Given the description of an element on the screen output the (x, y) to click on. 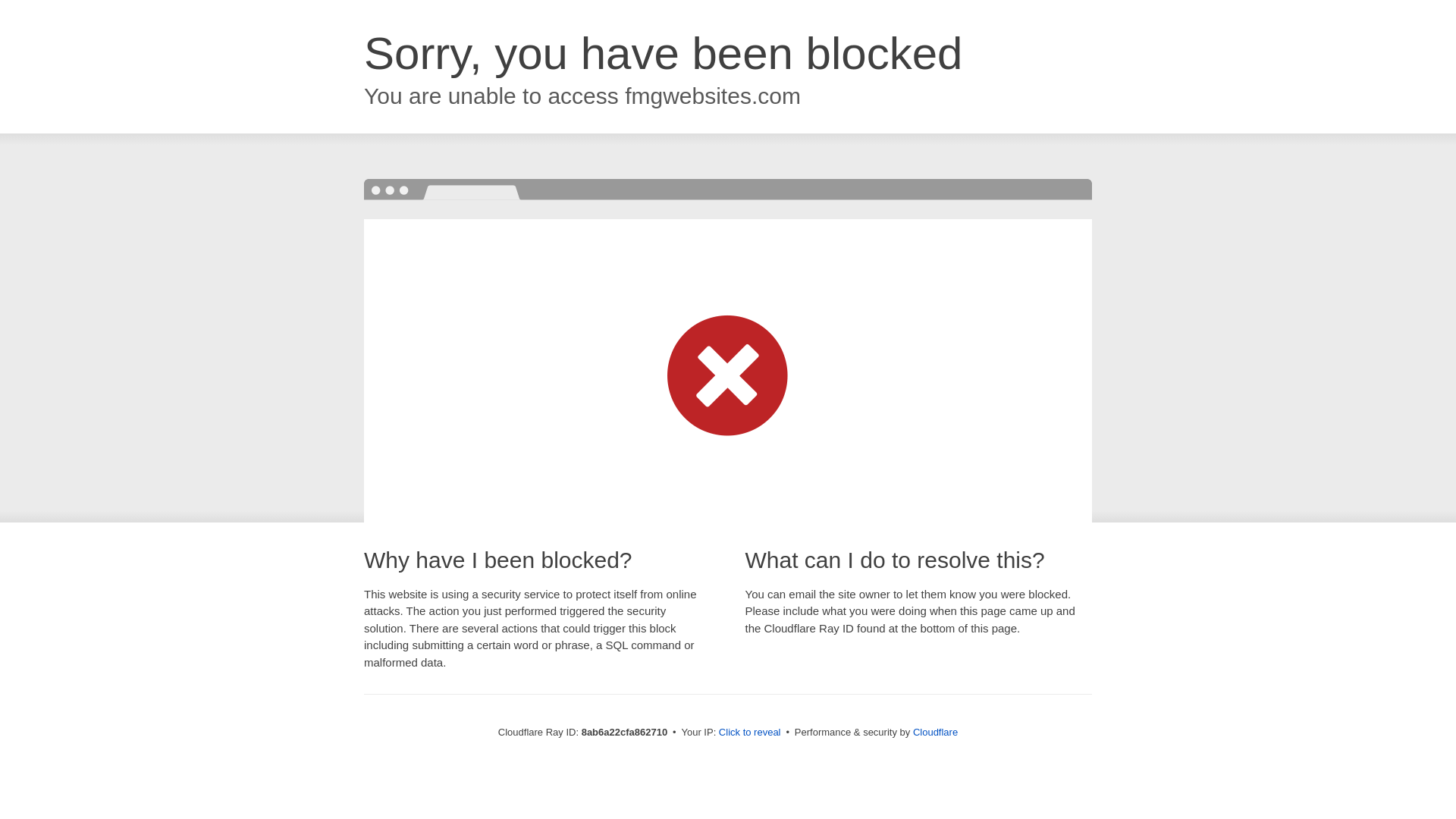
Cloudflare (935, 731)
Click to reveal (749, 732)
